Given the description of an element on the screen output the (x, y) to click on. 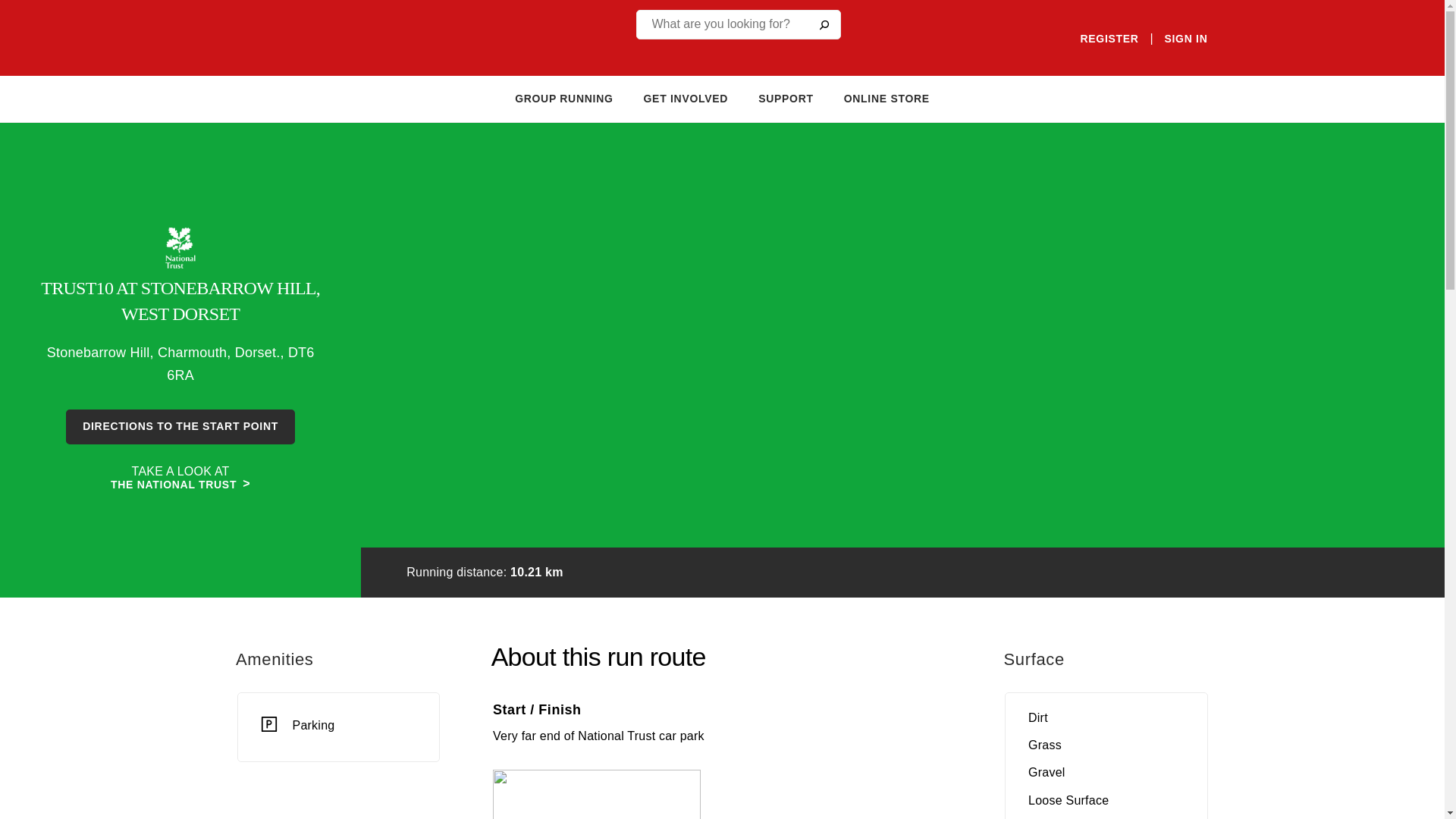
SUPPORT (785, 99)
GET INVOLVED (686, 99)
SIGN IN (1185, 39)
ONLINE STORE (887, 99)
GROUP RUNNING (563, 99)
REGISTER (1109, 39)
Go (823, 24)
